Given the description of an element on the screen output the (x, y) to click on. 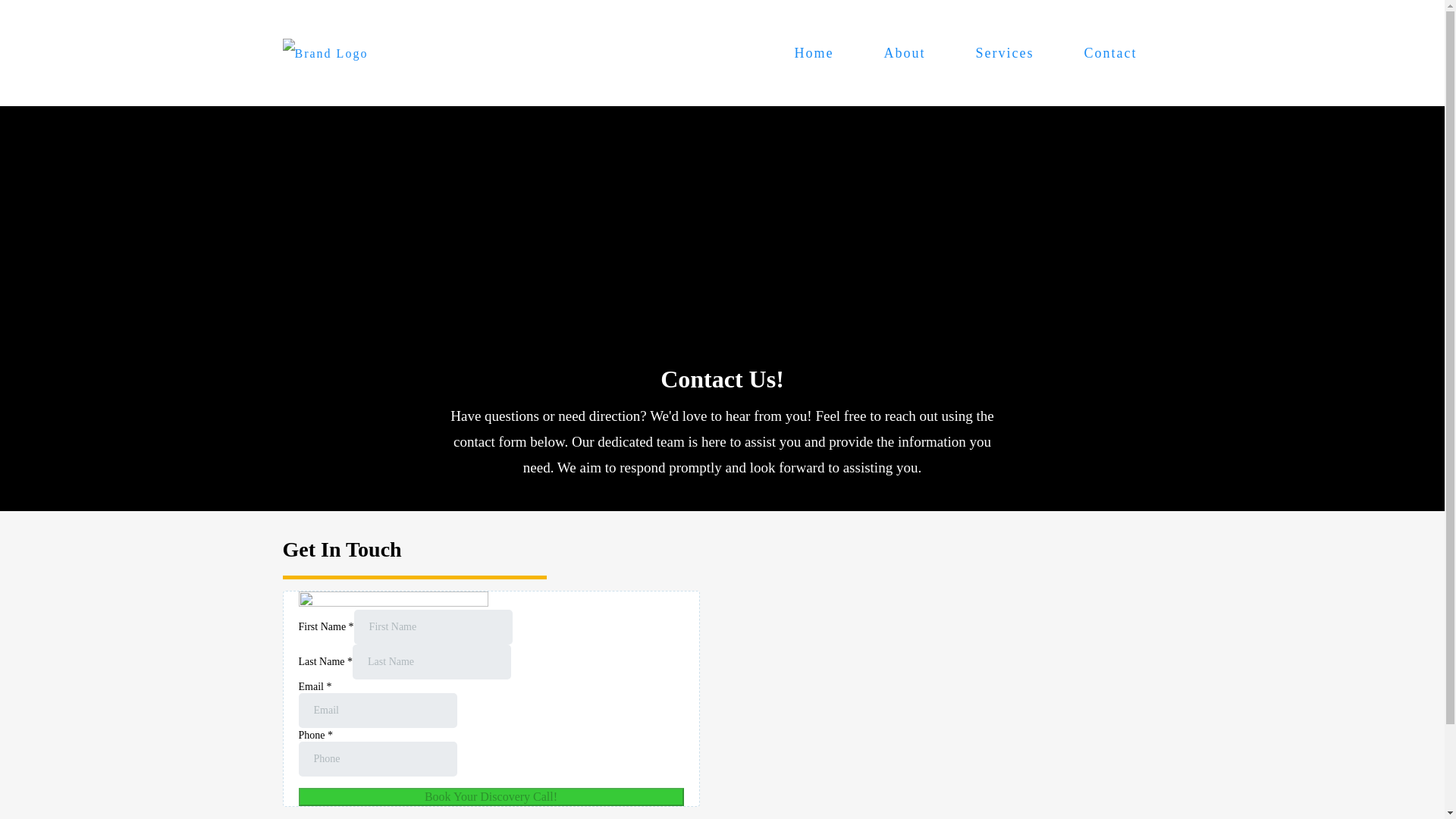
Services (1004, 52)
About (904, 52)
Contact (1109, 52)
Book Your Discovery Call! (491, 796)
Home (814, 52)
